Given the description of an element on the screen output the (x, y) to click on. 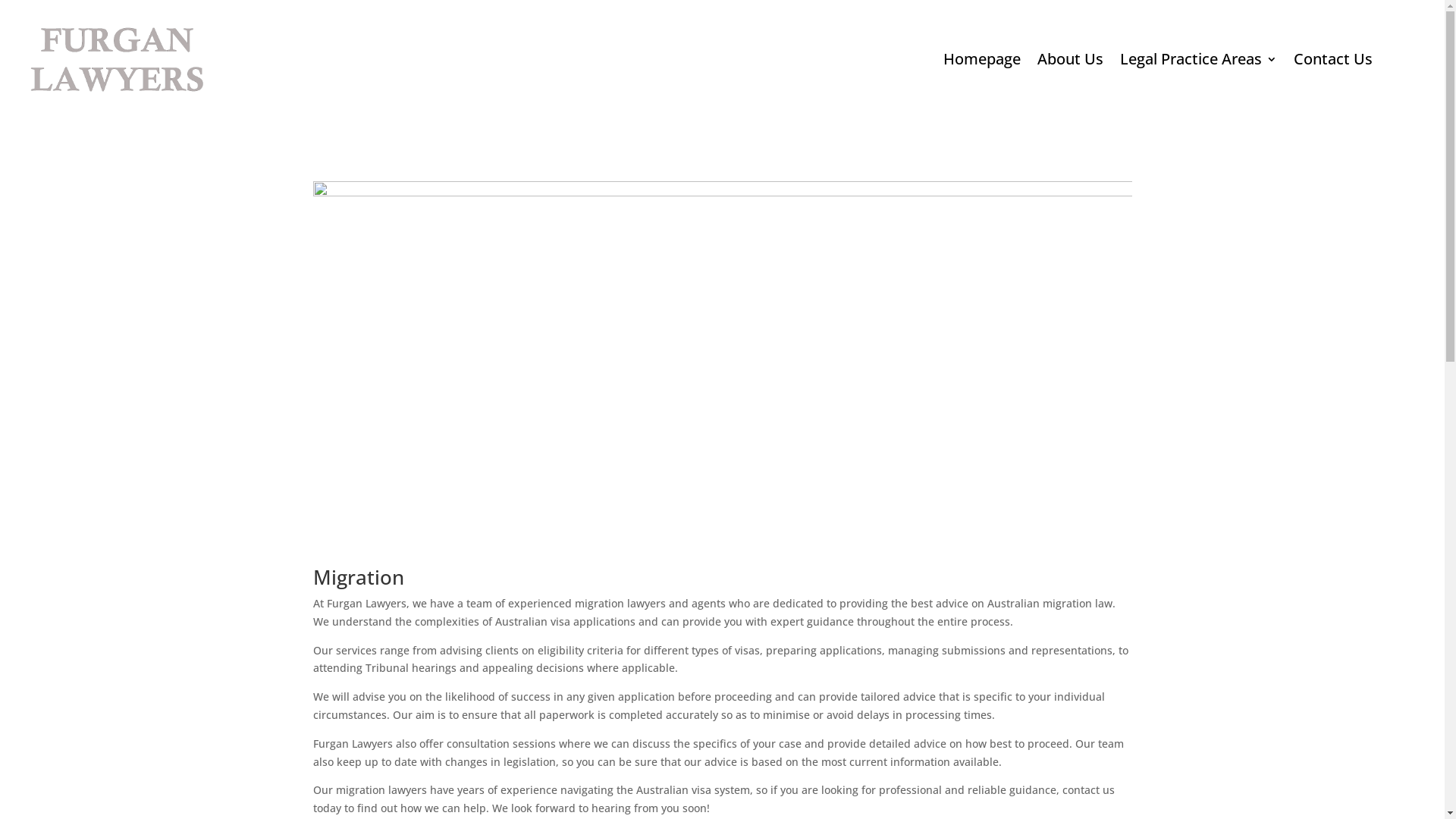
Migration-Furgan-Lawyers-e1494942485570-1170x493 Element type: hover (721, 353)
Homepage Element type: text (981, 58)
About Us Element type: text (1070, 58)
Legal Practice Areas Element type: text (1198, 58)
Contact Us Element type: text (1332, 58)
